Given the description of an element on the screen output the (x, y) to click on. 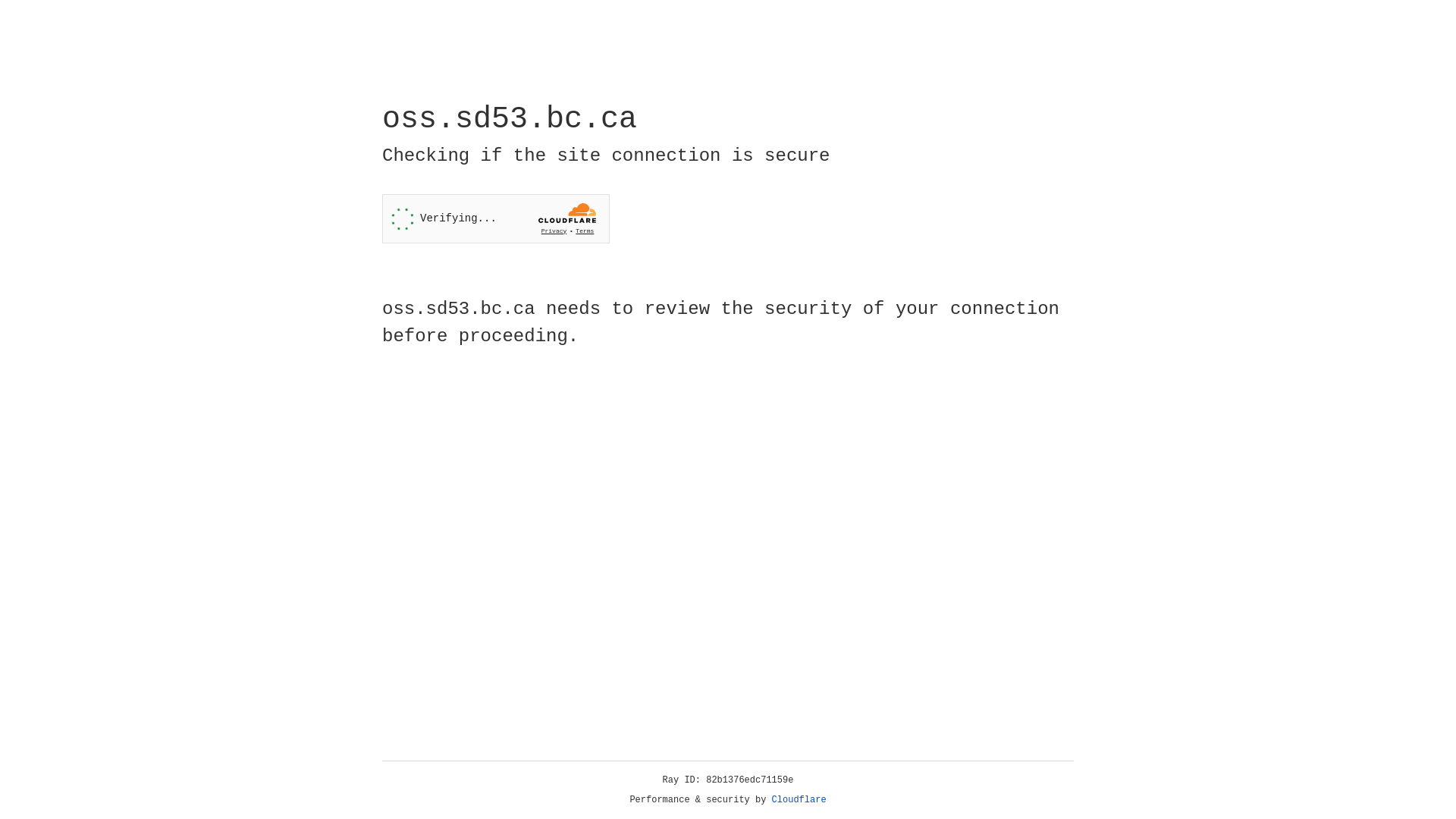
Cloudflare Element type: text (798, 799)
Widget containing a Cloudflare security challenge Element type: hover (495, 218)
